Given the description of an element on the screen output the (x, y) to click on. 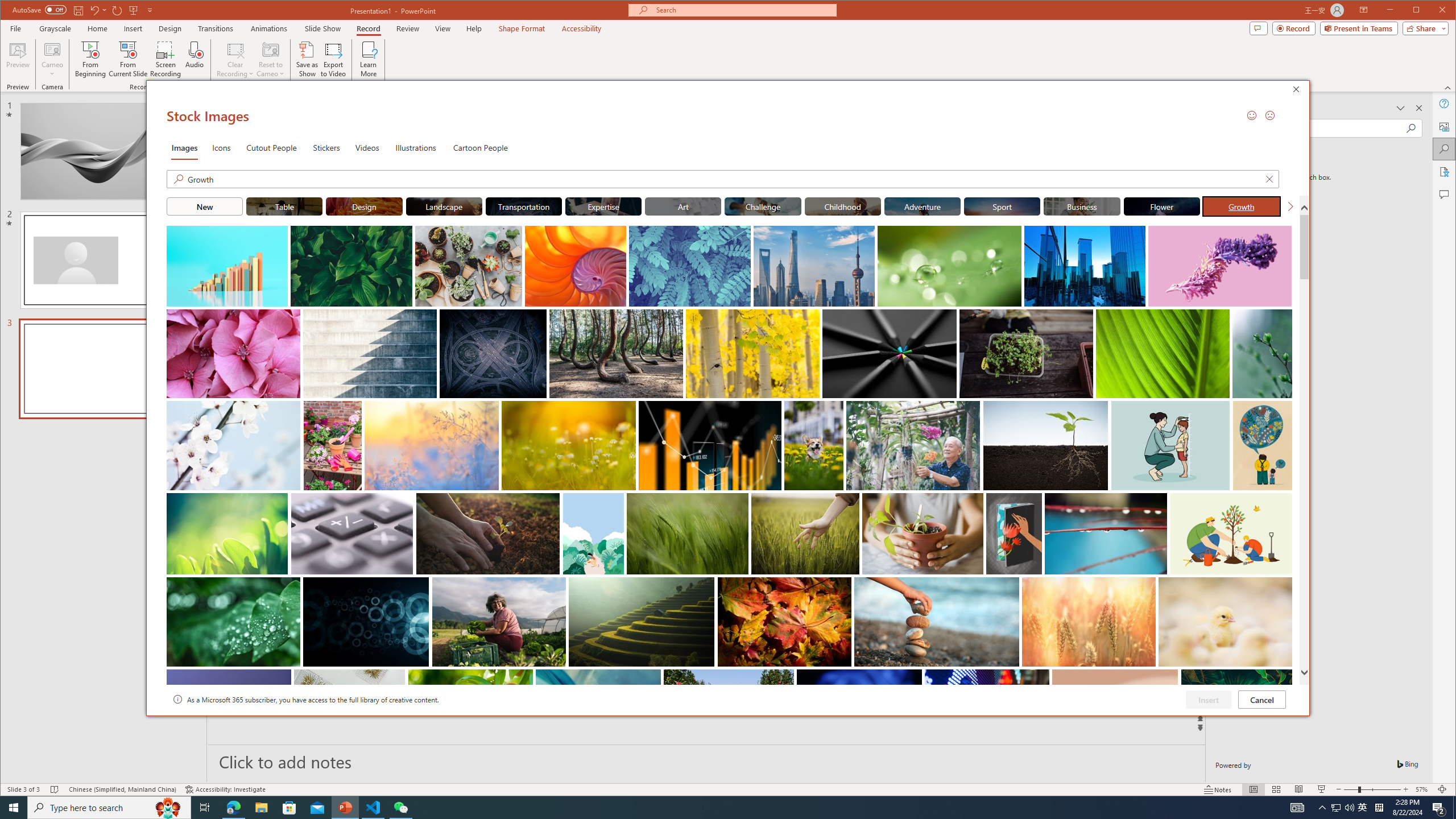
Comments (1258, 28)
Preview (17, 59)
Grayscale (55, 28)
From Current Slide... (127, 59)
"Art" Stock Images. (682, 206)
Search highlights icon opens search home window (167, 807)
File Explorer (261, 807)
Save as Show (307, 59)
AutoSave (38, 9)
Task View (204, 807)
